Given the description of an element on the screen output the (x, y) to click on. 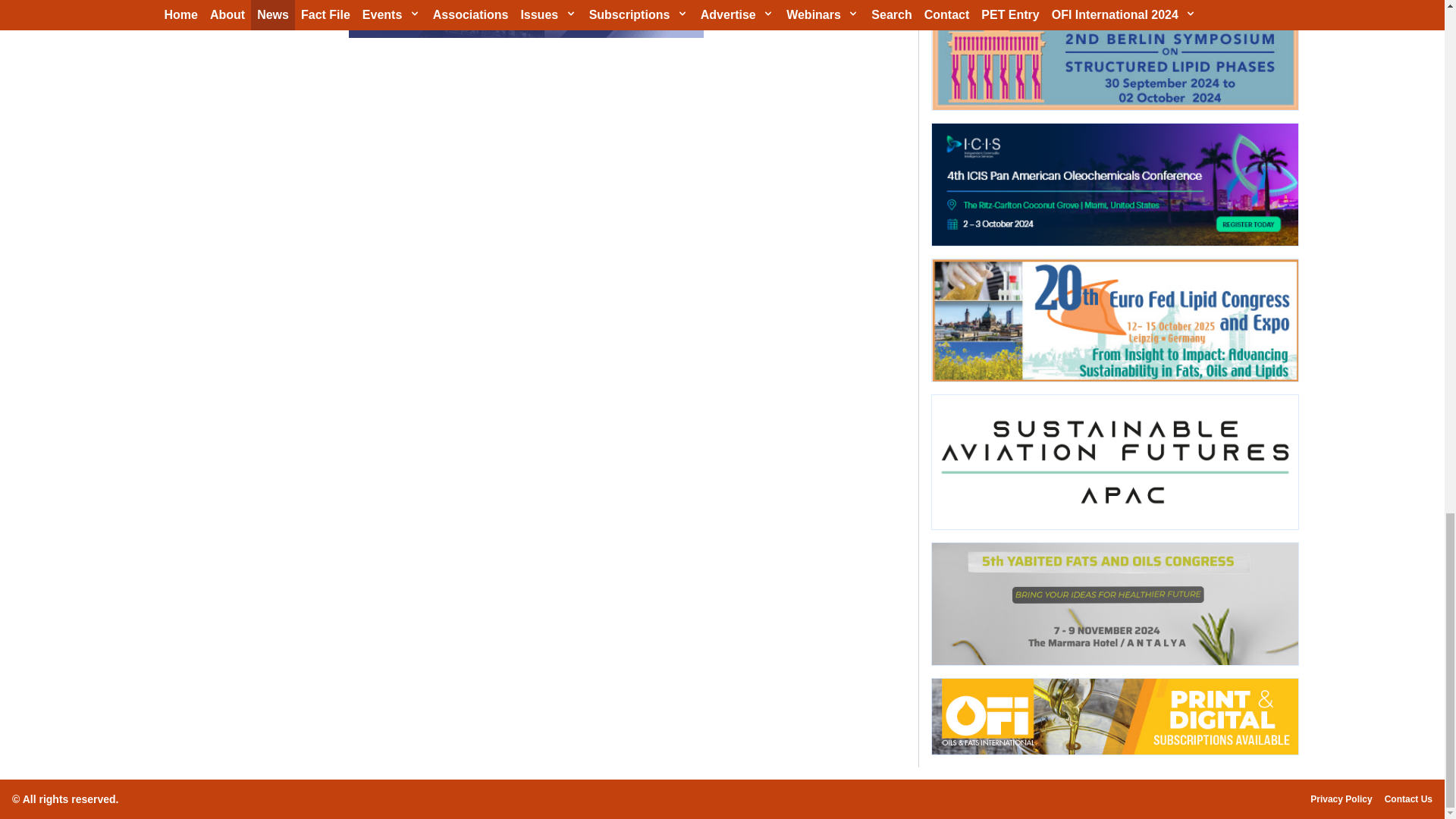
Sustainable Aviation Futures APAC Congress (1114, 461)
Euro Fed Lipid 2025 (1114, 320)
Yabited (1114, 603)
OFI Subs (1114, 716)
2nd Berlin Symposium 2024 (1114, 54)
ICIS Pan American Oleochemicals Conference (1114, 184)
Desmet 2022-4 footer banner (525, 18)
